Given the description of an element on the screen output the (x, y) to click on. 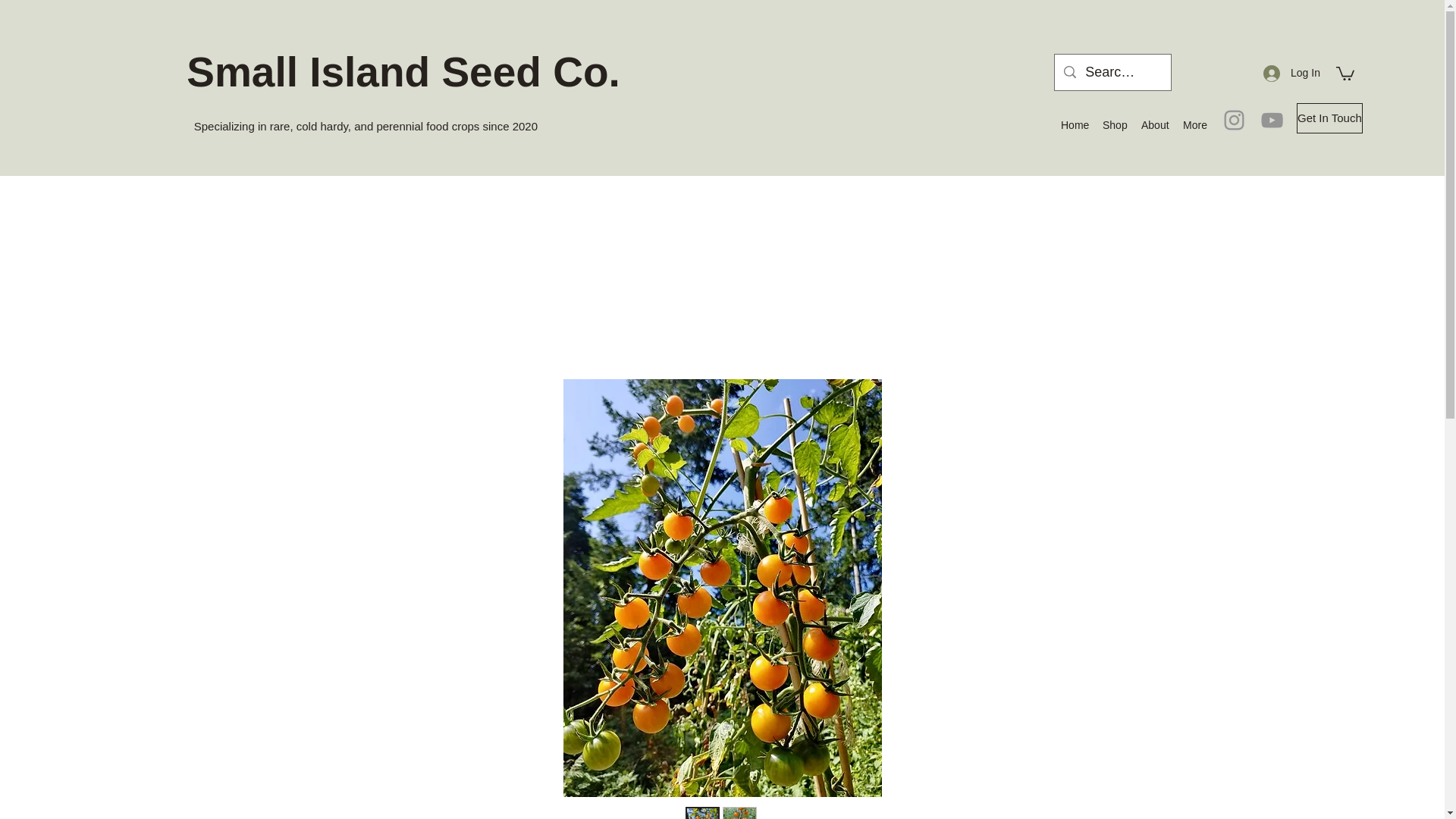
Small Island Seed Co. (403, 71)
Home (1073, 124)
About (1154, 124)
Shop (1114, 124)
Log In (1291, 72)
